Given the description of an element on the screen output the (x, y) to click on. 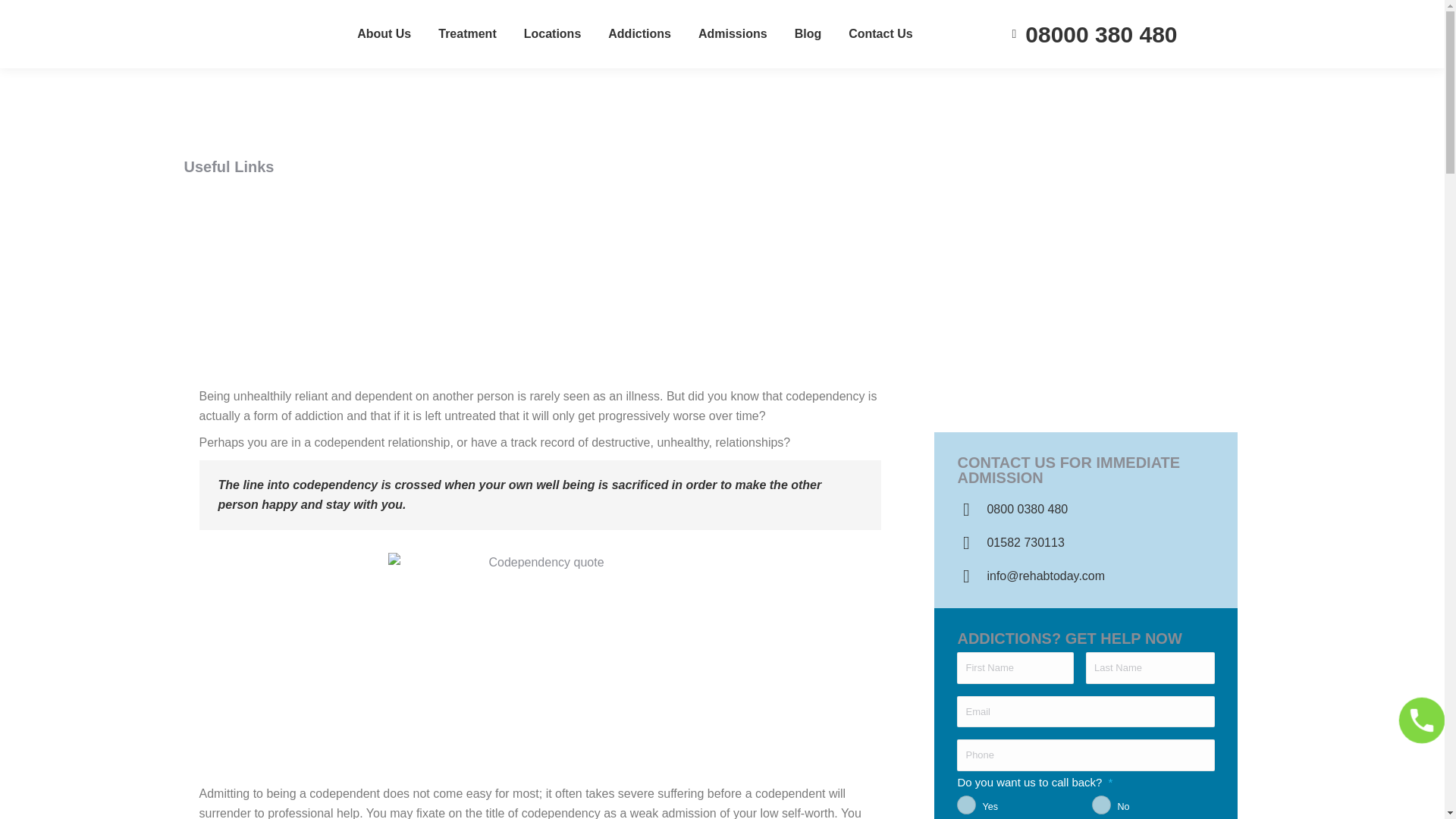
No (1101, 804)
Home (196, 82)
Treatment (467, 33)
About Us (383, 33)
Yes (965, 804)
Addictions (639, 33)
Locations (553, 33)
